Given the description of an element on the screen output the (x, y) to click on. 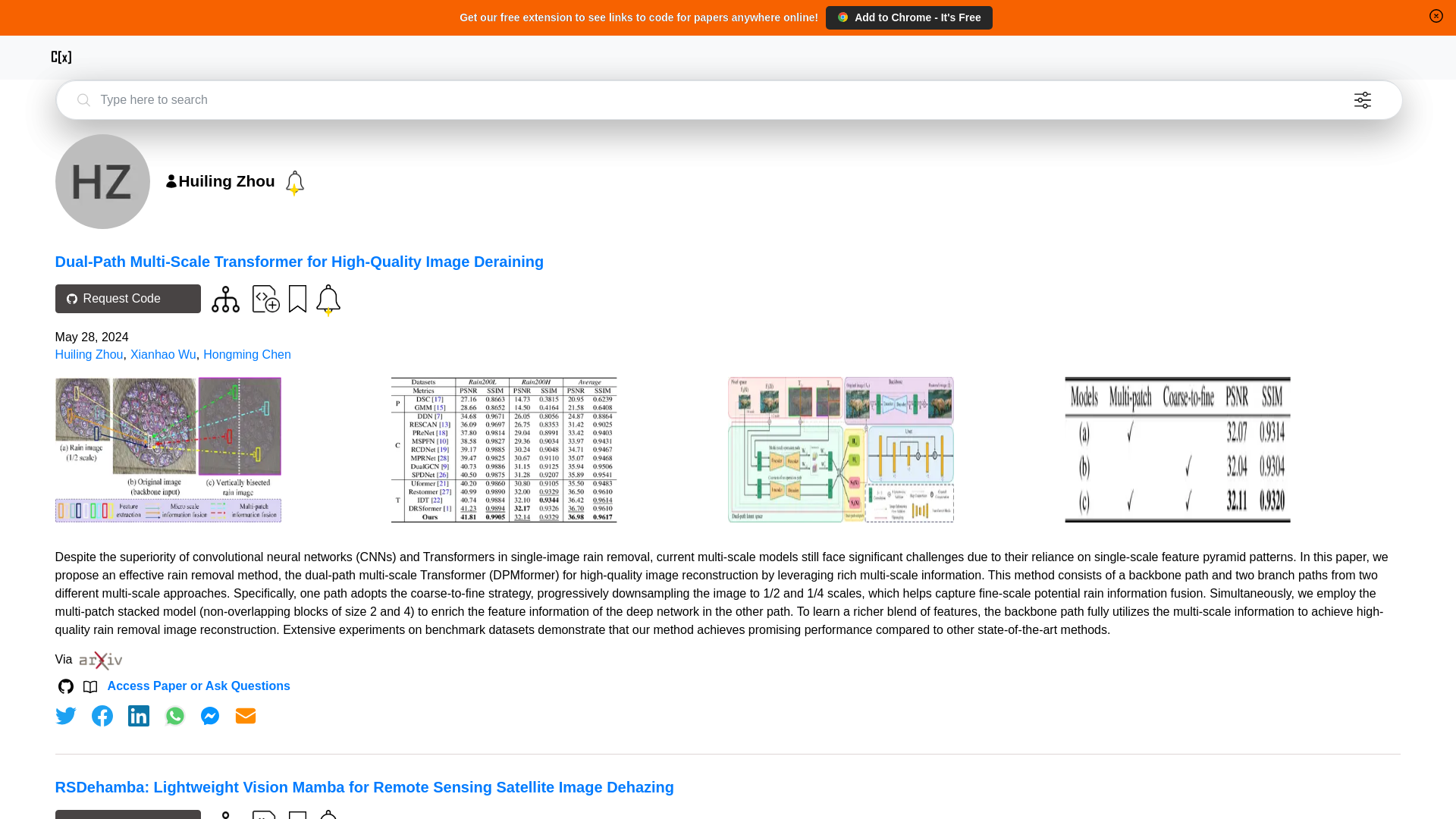
Access Paper or Ask Questions (198, 685)
Share via Email (245, 715)
View code for similar papers (225, 298)
Add to Chrome - It's Free (908, 17)
Request Code (127, 814)
Request Code (127, 298)
Contribute your code for this paper to the community (265, 298)
Contribute your code for this paper to the community (265, 814)
Huiling Zhou (89, 354)
Hongming Chen (247, 354)
Bookmark this paper (295, 813)
Xianhao Wu (163, 354)
View code for similar papers (225, 815)
